Given the description of an element on the screen output the (x, y) to click on. 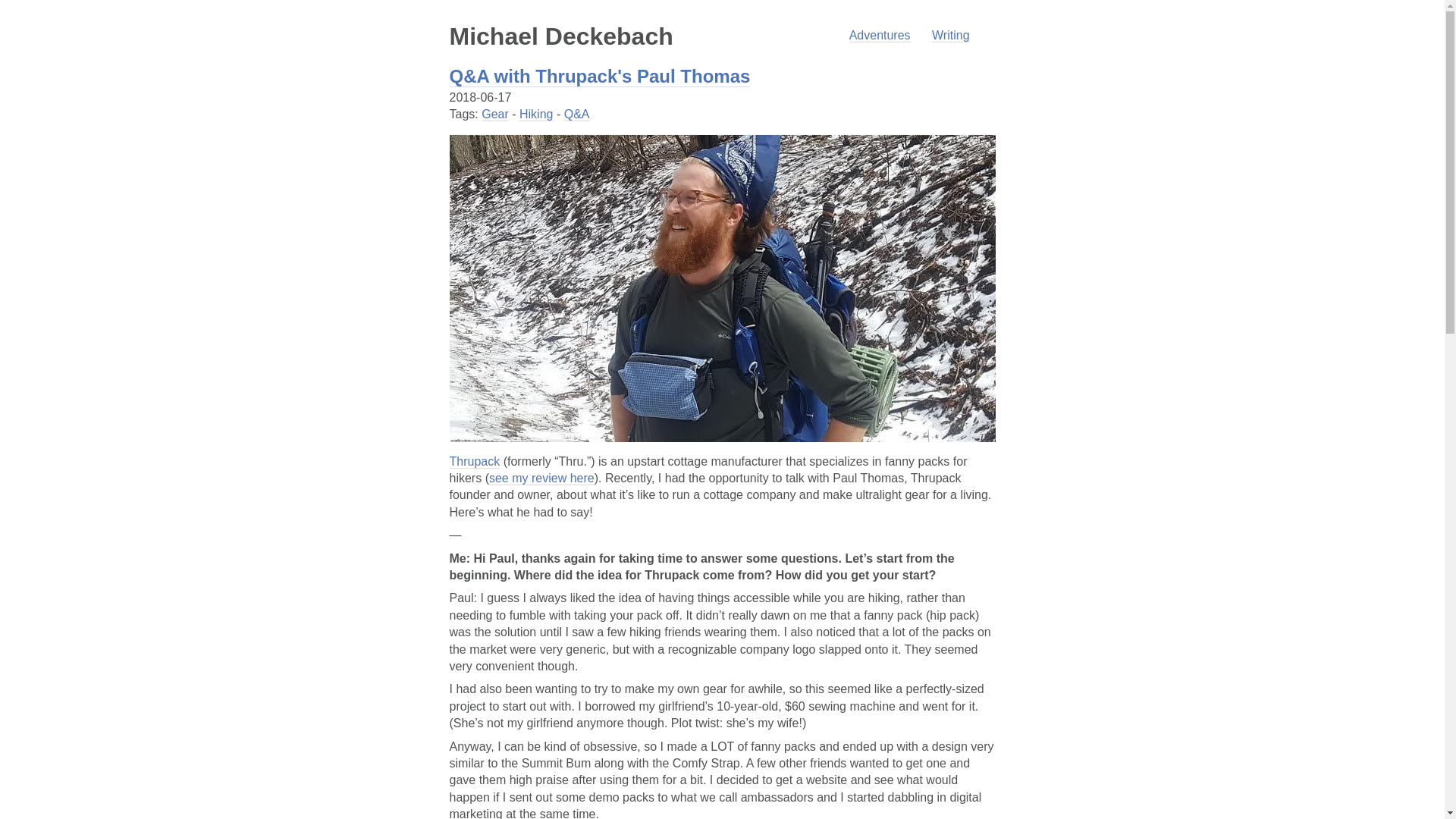
see my review here (541, 478)
Adventures (879, 35)
Thrupack (473, 461)
Michael Deckebach (560, 35)
Hiking (536, 114)
Michael Deckebach (560, 35)
Writing (950, 35)
Gear (494, 114)
